Given the description of an element on the screen output the (x, y) to click on. 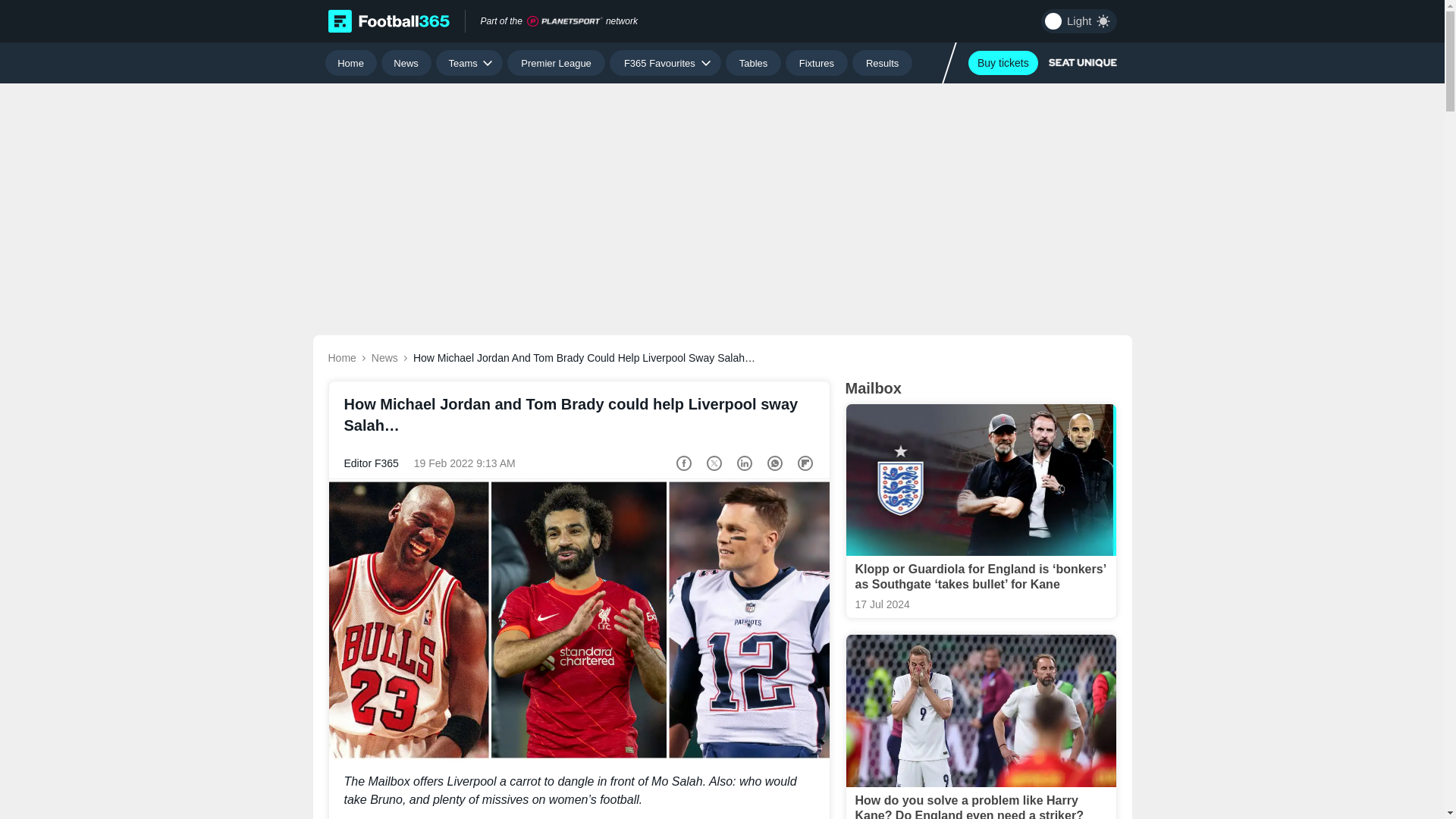
F365 Favourites (665, 62)
Fixtures (817, 62)
Results (881, 62)
Premier League (555, 62)
News (405, 62)
Home (349, 62)
Teams (468, 62)
Tables (752, 62)
